Given the description of an element on the screen output the (x, y) to click on. 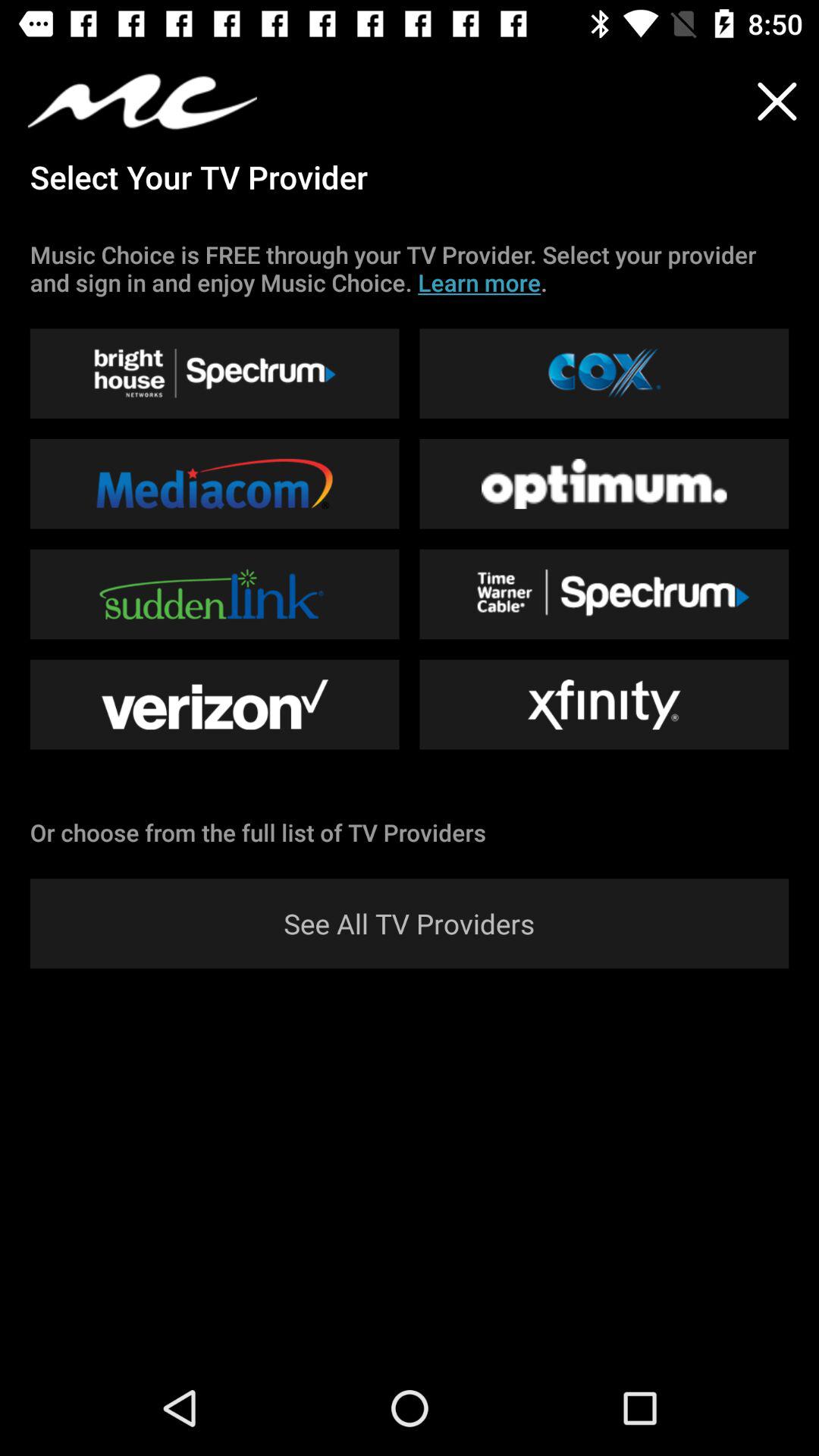
launch icon below the select your tv (409, 268)
